Given the description of an element on the screen output the (x, y) to click on. 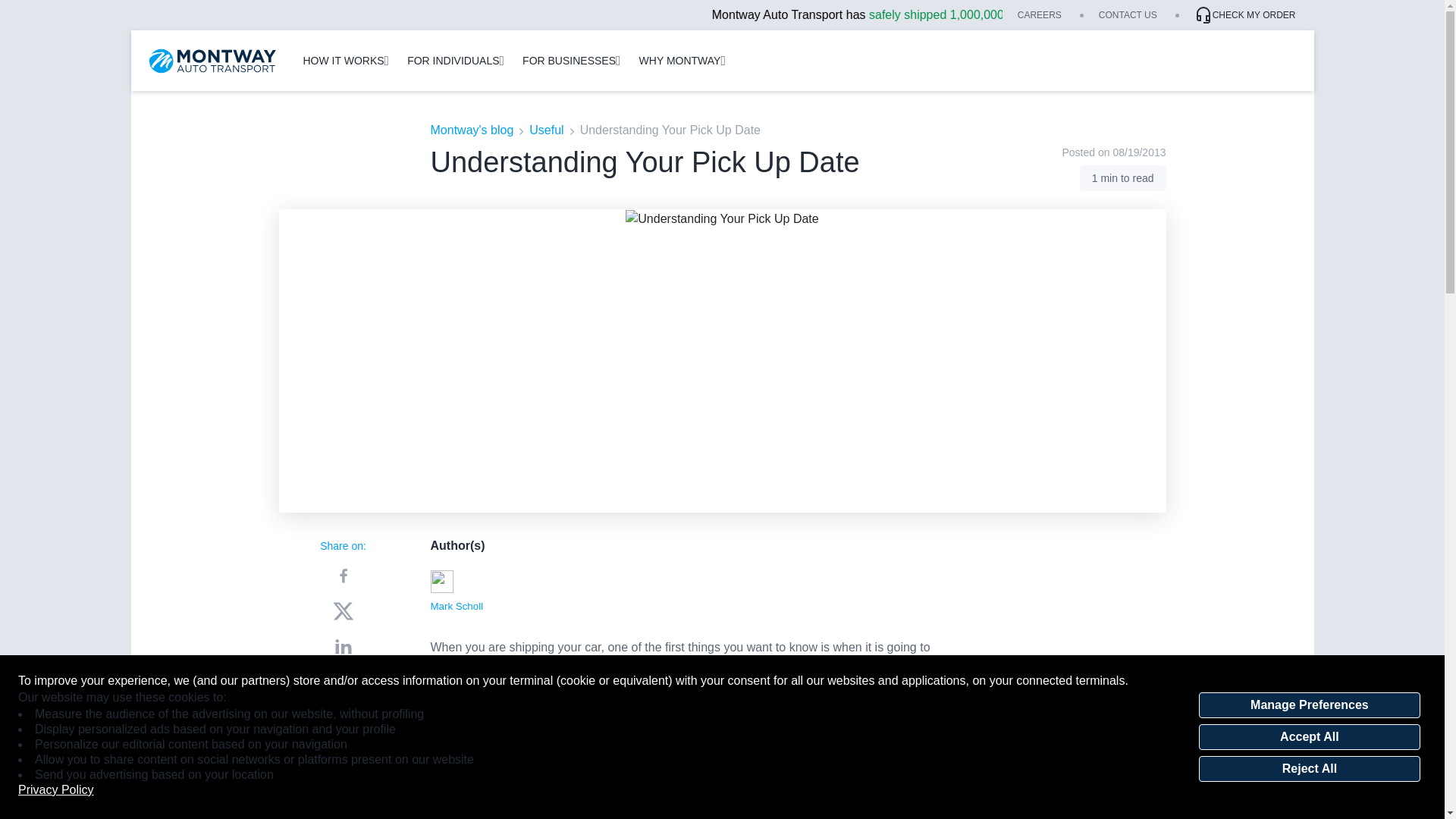
Privacy Policy (55, 789)
CHECK MY ORDER (1244, 14)
Manage Preferences (1309, 705)
Accept All (1309, 736)
Reject All (1309, 768)
CAREERS (1039, 15)
CONTACT US (1128, 15)
